Given the description of an element on the screen output the (x, y) to click on. 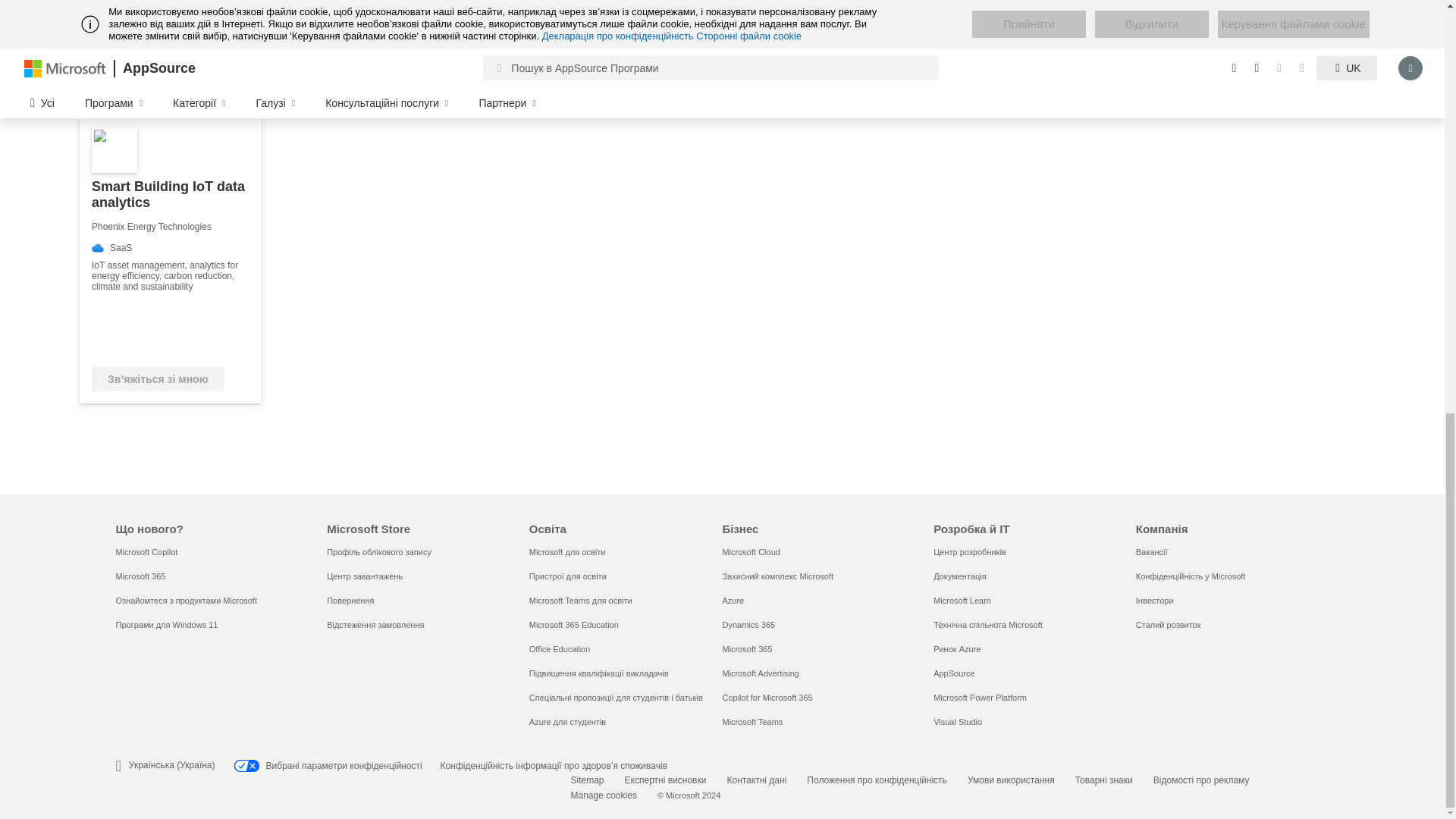
Microsoft 365 (140, 575)
Microsoft Copilot (146, 551)
